Given the description of an element on the screen output the (x, y) to click on. 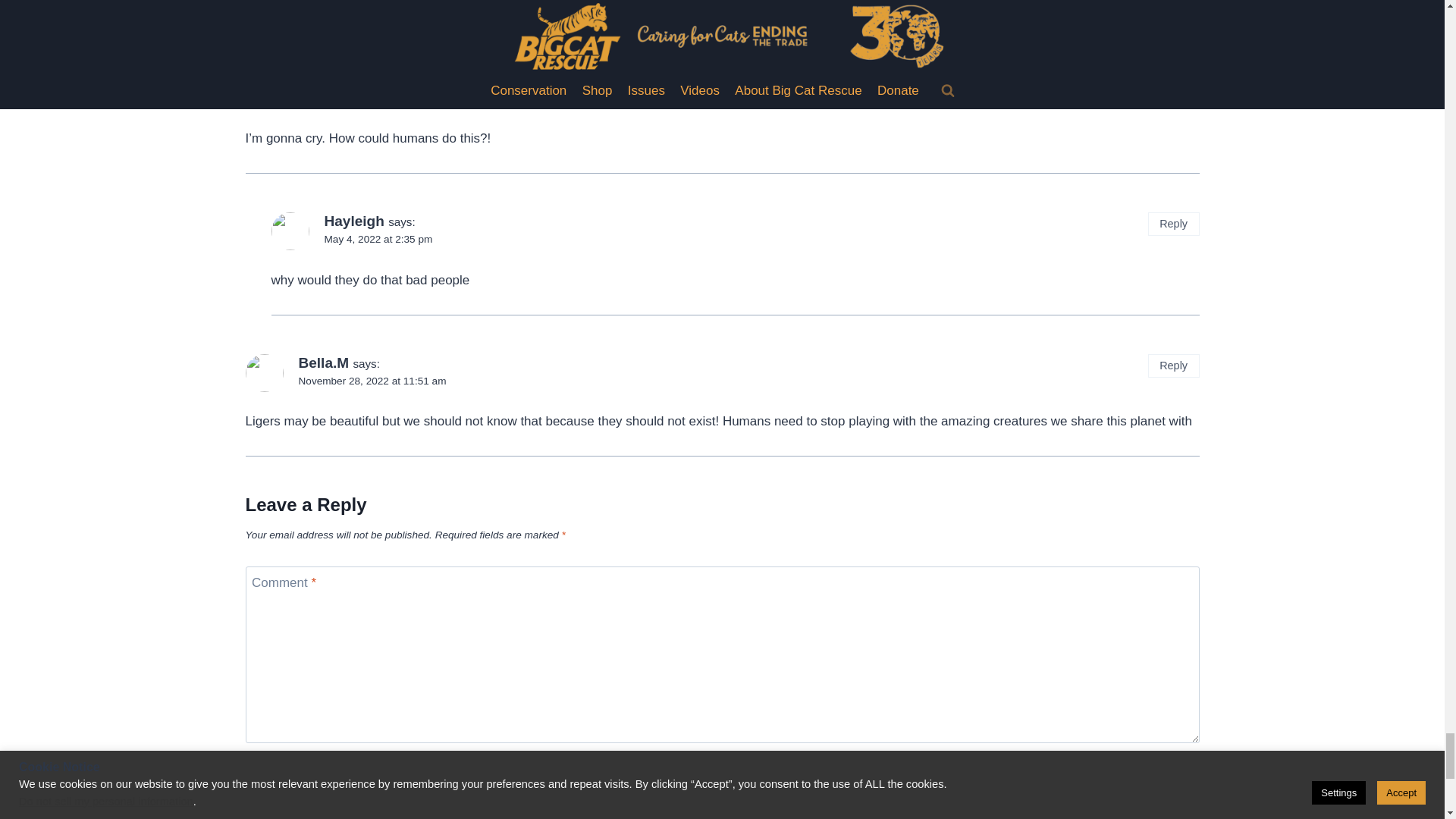
yes (1045, 798)
